Given the description of an element on the screen output the (x, y) to click on. 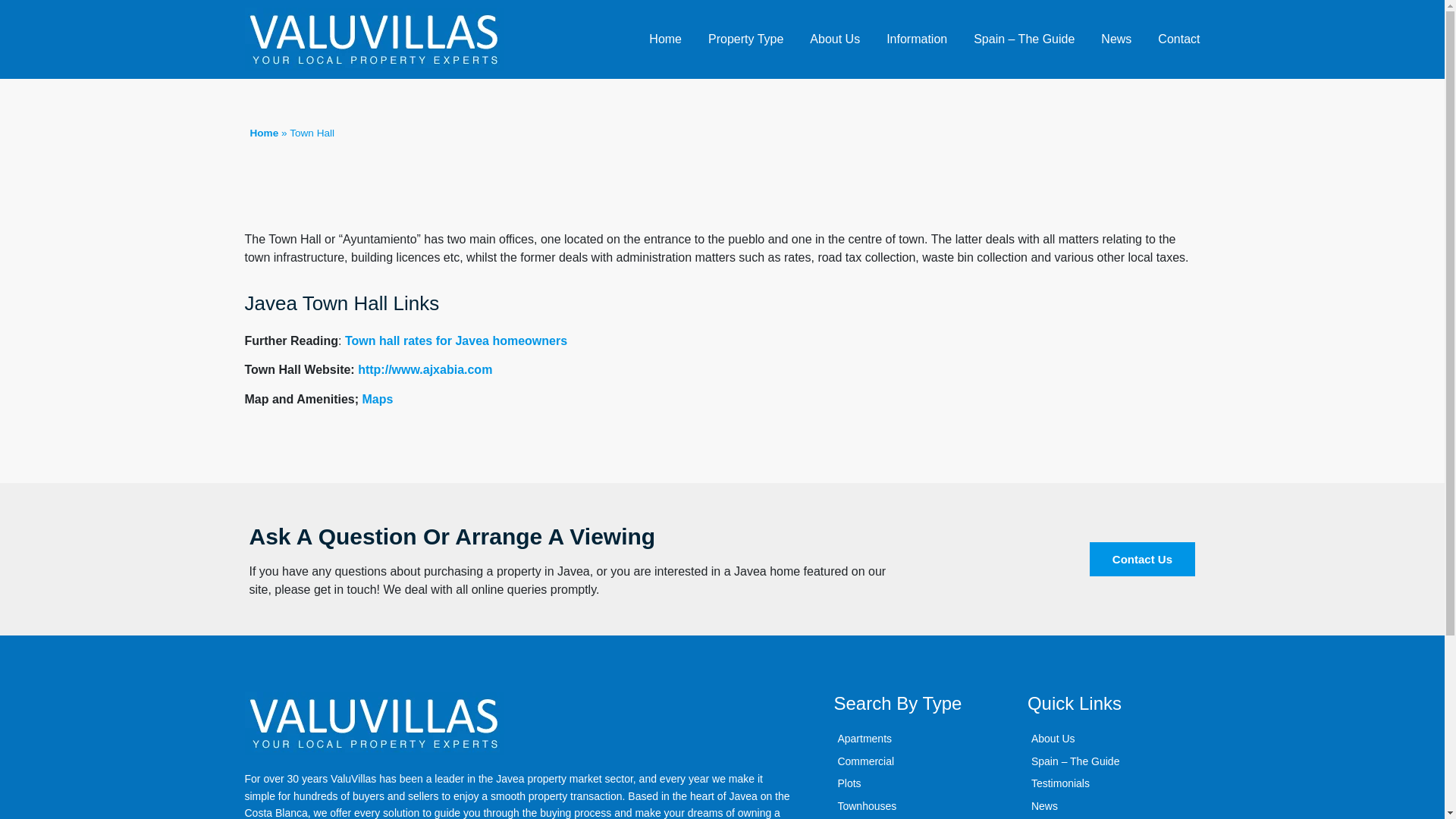
Information (916, 39)
Contact (1178, 39)
Home (264, 132)
Property Type (745, 39)
Town hall rates for Javea homeowners (456, 340)
About Us (834, 39)
